Given the description of an element on the screen output the (x, y) to click on. 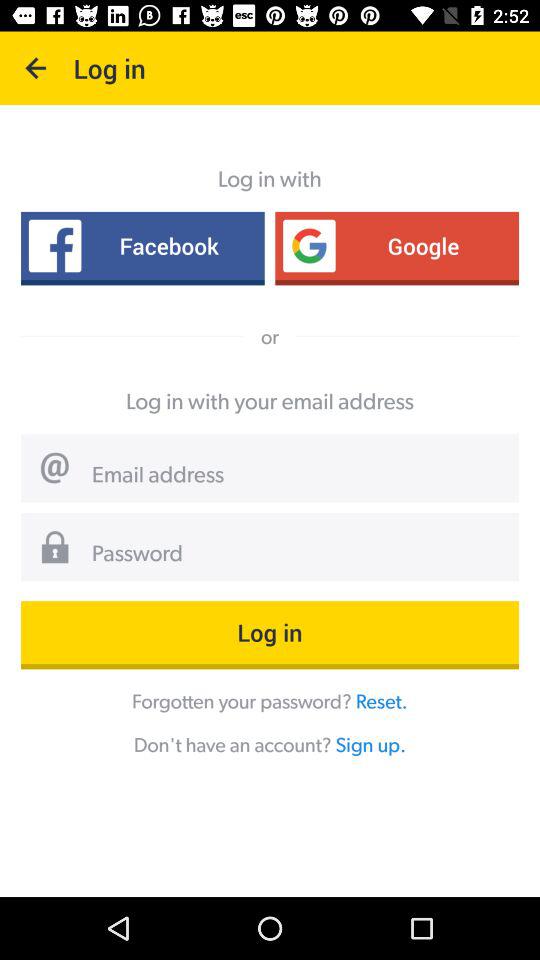
jump to the facebook (142, 245)
